Given the description of an element on the screen output the (x, y) to click on. 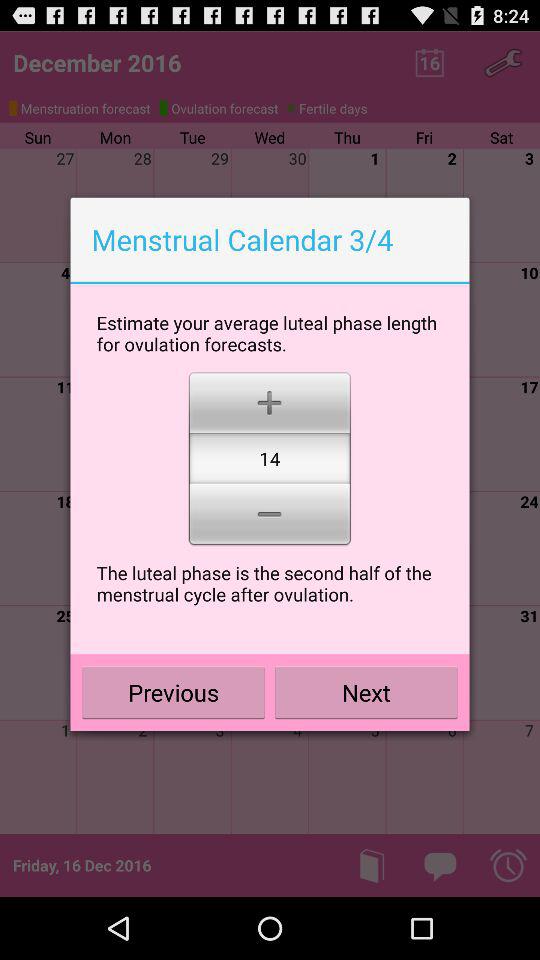
select the item above the 14 app (269, 400)
